Given the description of an element on the screen output the (x, y) to click on. 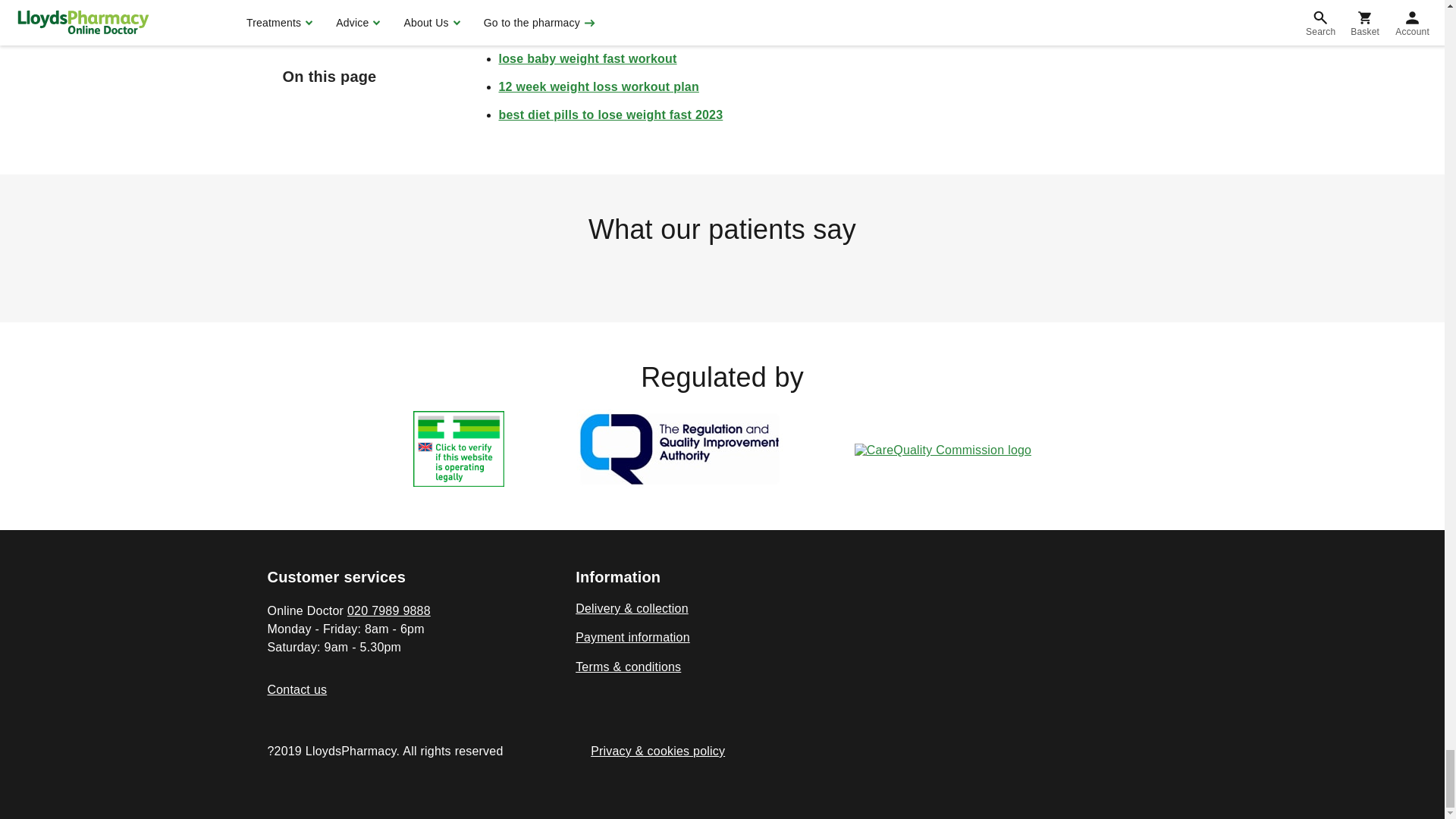
CareQuality Commission logo (942, 450)
Customer reviews powered by Trustpilot (721, 272)
